Given the description of an element on the screen output the (x, y) to click on. 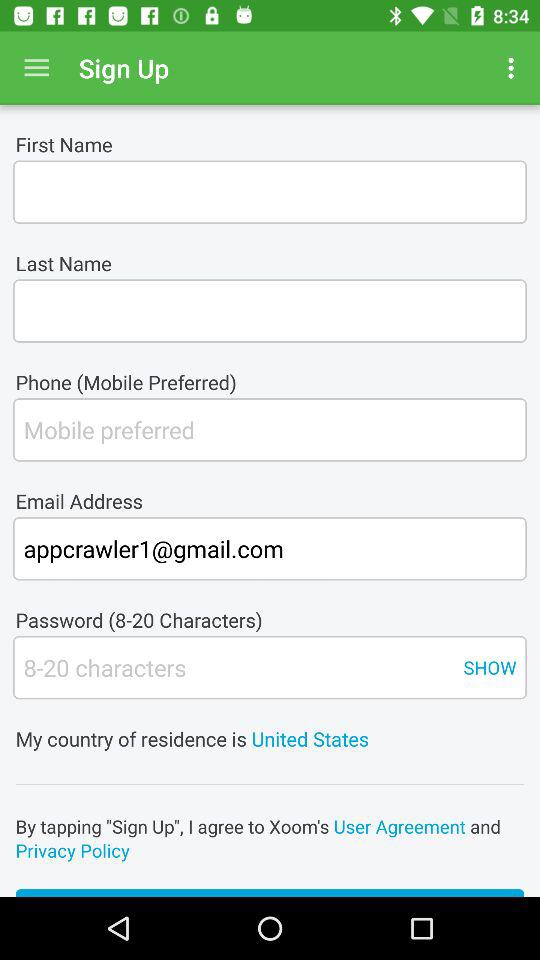
open the icon above first name icon (36, 68)
